Given the description of an element on the screen output the (x, y) to click on. 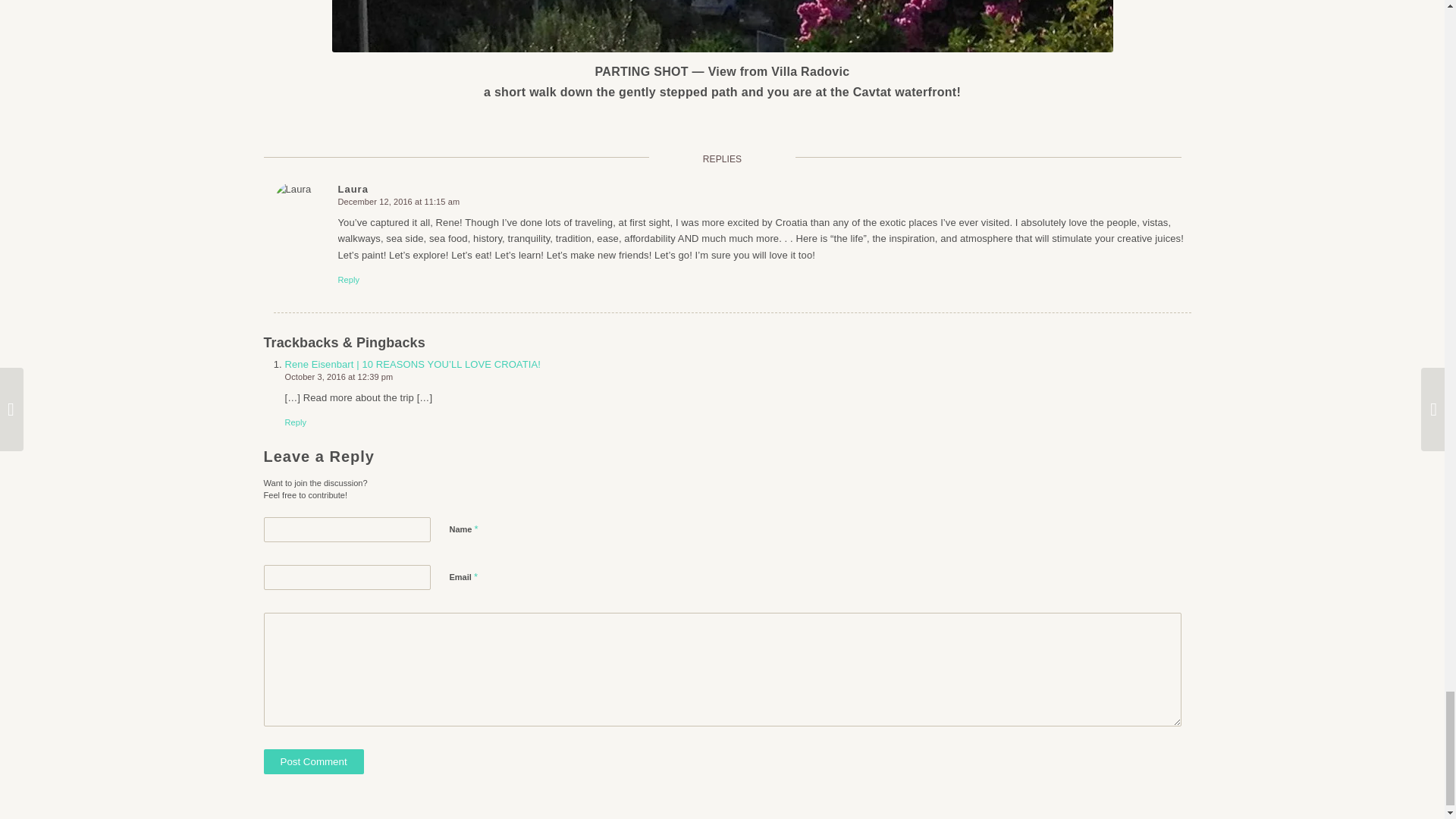
Post Comment (313, 761)
Reply (296, 421)
Reply (348, 279)
December 12, 2016 at 11:15 am (398, 201)
October 3, 2016 at 12:39 pm (339, 376)
